Given the description of an element on the screen output the (x, y) to click on. 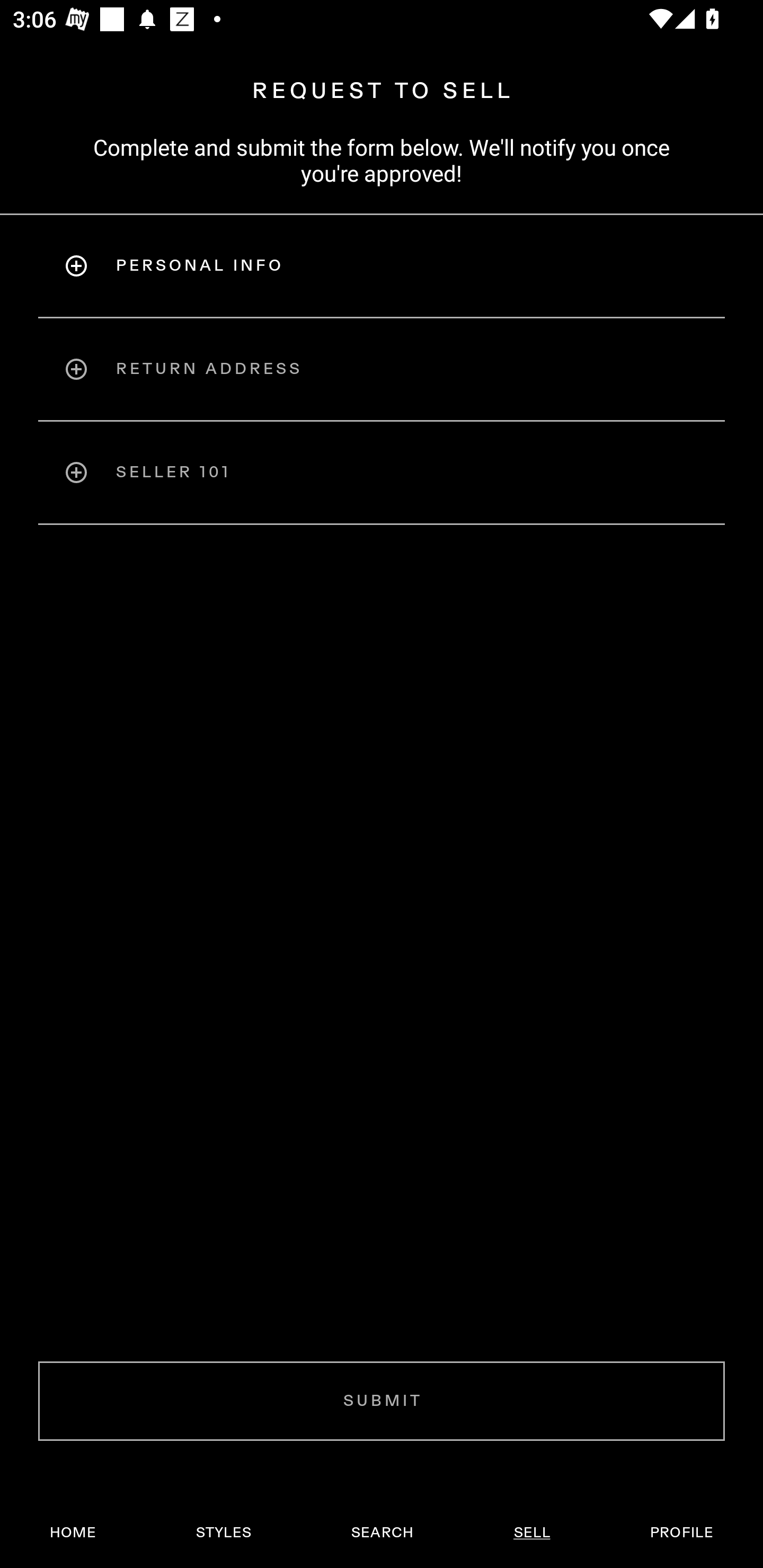
PERSONAL INFO (381, 265)
RETURN ADDRESS (381, 369)
SELLER 101 (381, 472)
SUBMIT (381, 1400)
HOME (72, 1532)
STYLES (222, 1532)
SEARCH (381, 1532)
SELL (531, 1532)
PROFILE (681, 1532)
